Given the description of an element on the screen output the (x, y) to click on. 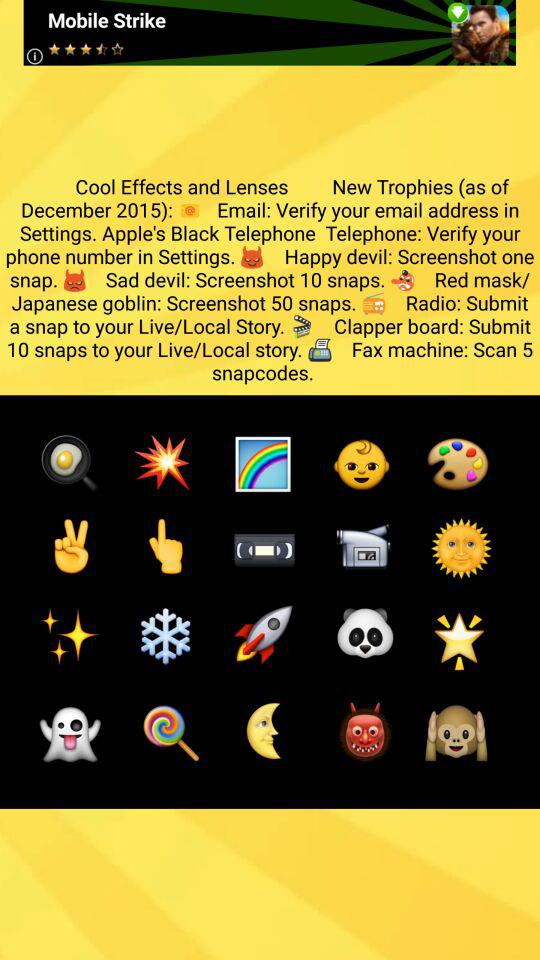
select icon above cool effects and item (269, 32)
